Given the description of an element on the screen output the (x, y) to click on. 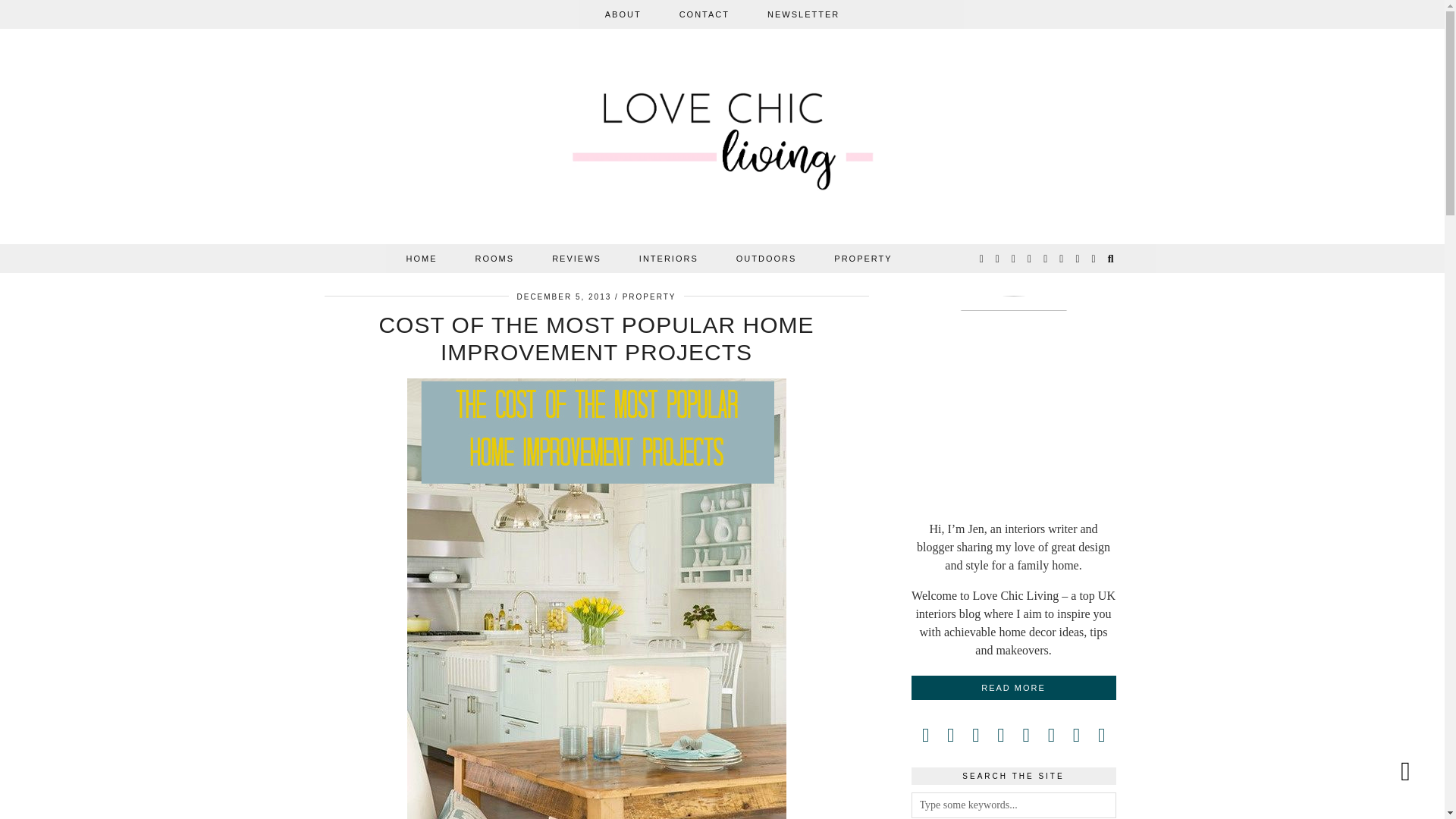
ABOUT (623, 14)
ROOMS (495, 258)
INTERIORS (668, 258)
NEWSLETTER (803, 14)
REVIEWS (576, 258)
Love Chic Living (722, 139)
HOME (422, 258)
CONTACT (704, 14)
